Given the description of an element on the screen output the (x, y) to click on. 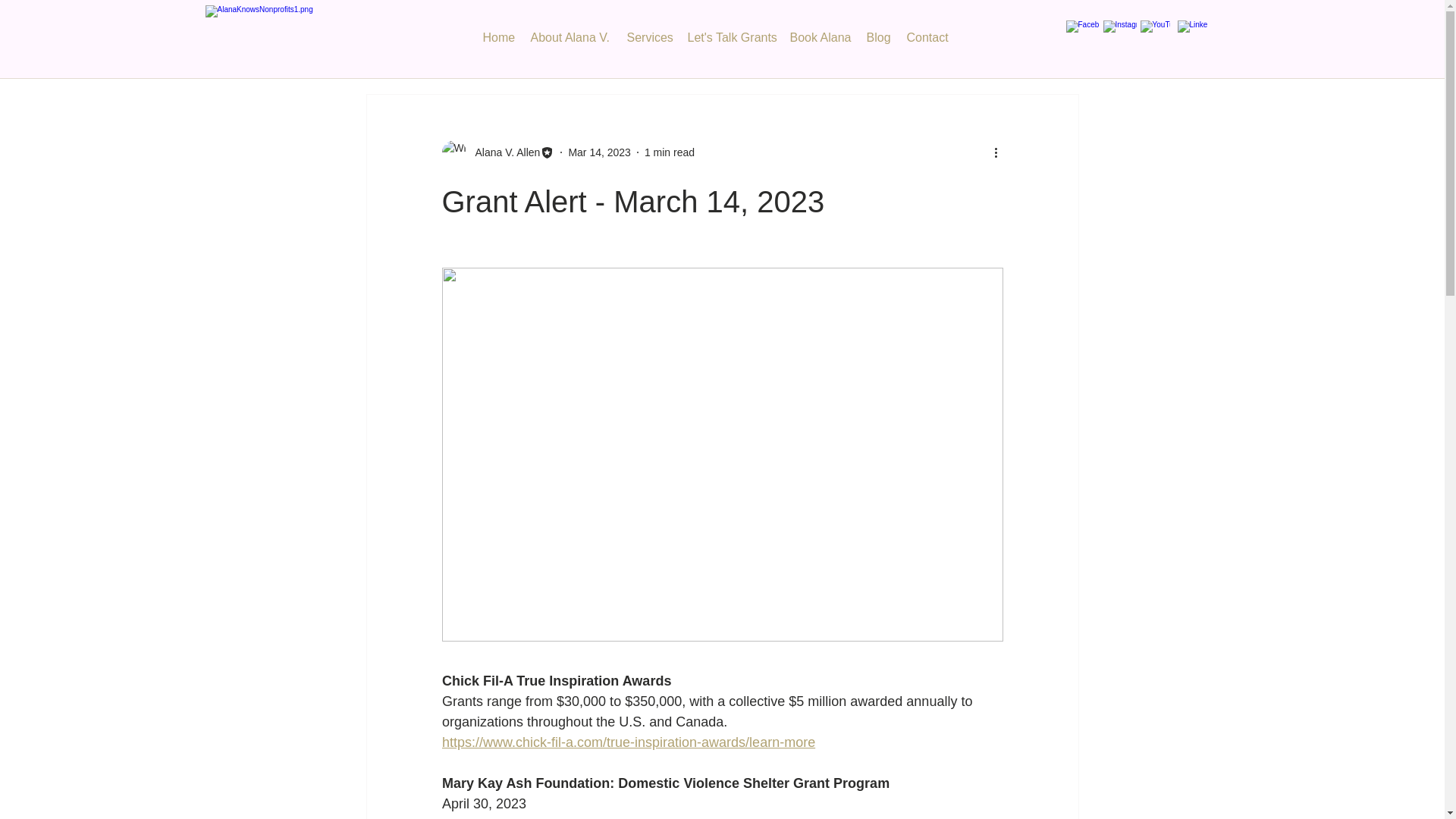
Contact (933, 37)
Book Alana (826, 37)
Mar 14, 2023 (598, 151)
Alana V. Allen (502, 151)
Blog (884, 37)
About Alana V. (577, 37)
Home (504, 37)
Services (655, 37)
Let's Talk Grants (736, 37)
1 min read (669, 151)
